Given the description of an element on the screen output the (x, y) to click on. 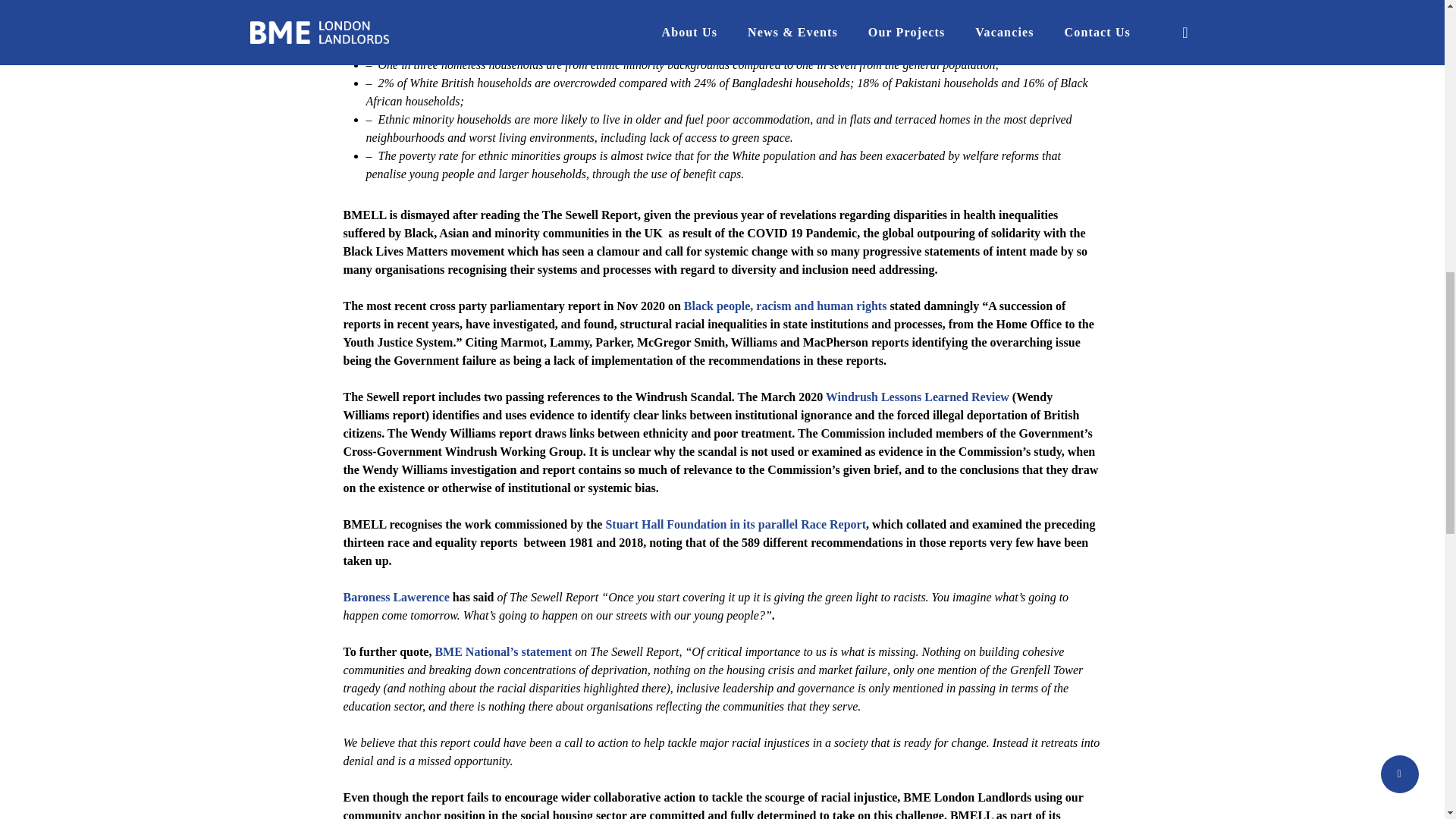
Stuart Hall Foundation in its parallel Race Report (735, 523)
Baroness Lawerence (395, 596)
Black people, racism and human rights  (786, 305)
Windrush Lessons Learned Review (917, 396)
